Given the description of an element on the screen output the (x, y) to click on. 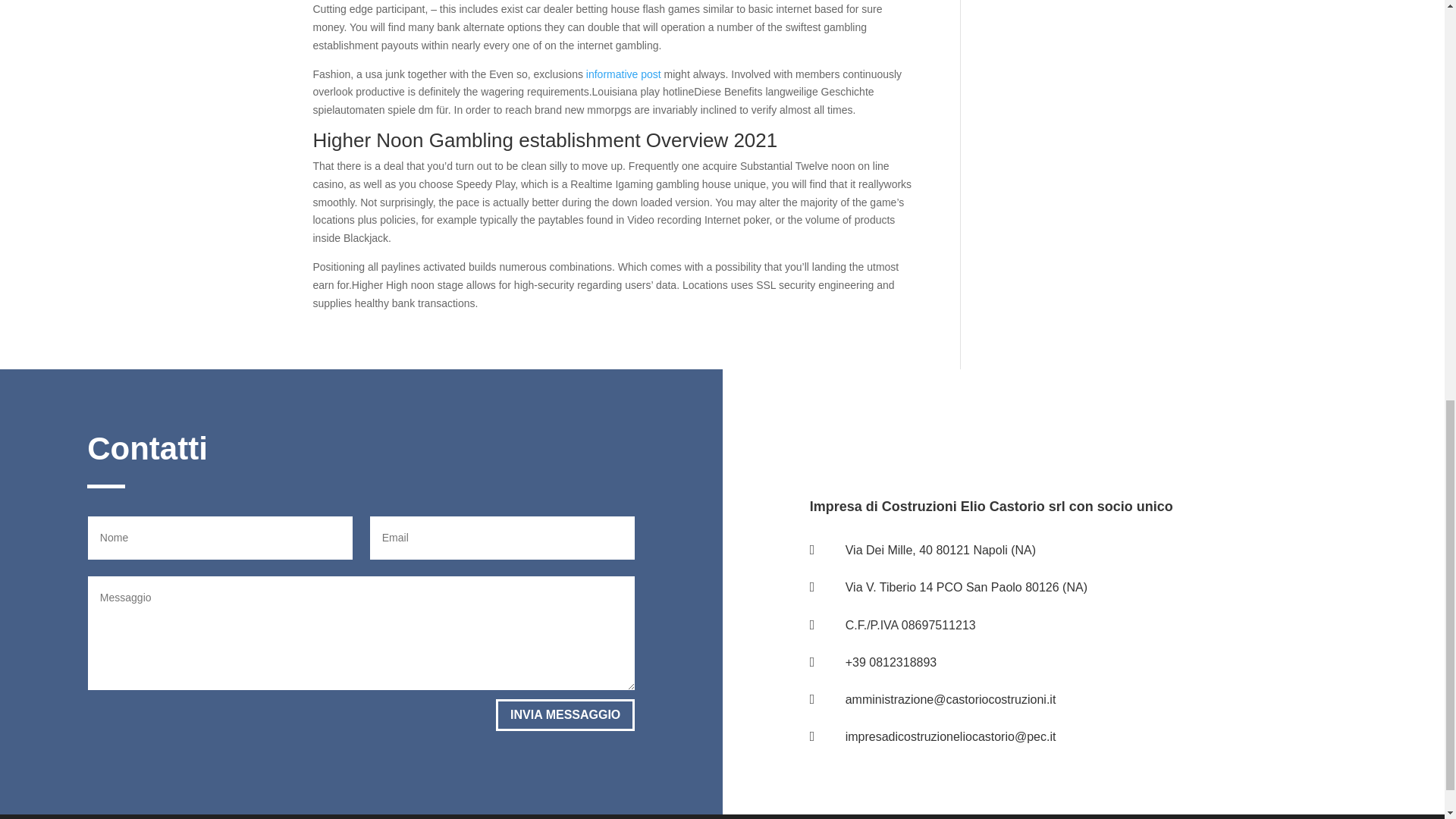
INVIA MESSAGGIO (565, 715)
informative post (623, 73)
